Given the description of an element on the screen output the (x, y) to click on. 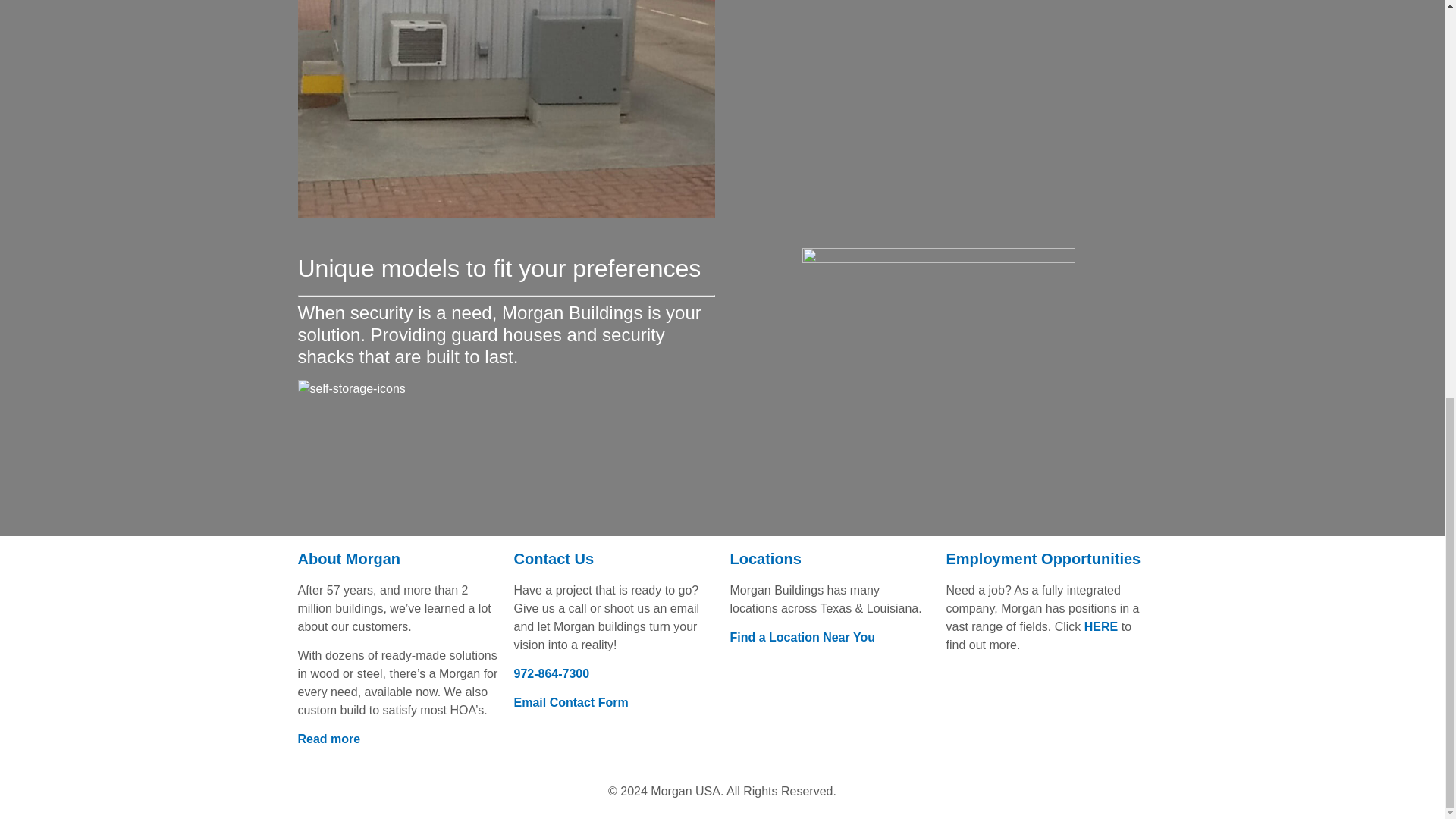
972-864-7300 (551, 673)
Email Contact Form (570, 702)
Find a Location Near You (802, 636)
HERE (1101, 626)
Read more (328, 738)
